Given the description of an element on the screen output the (x, y) to click on. 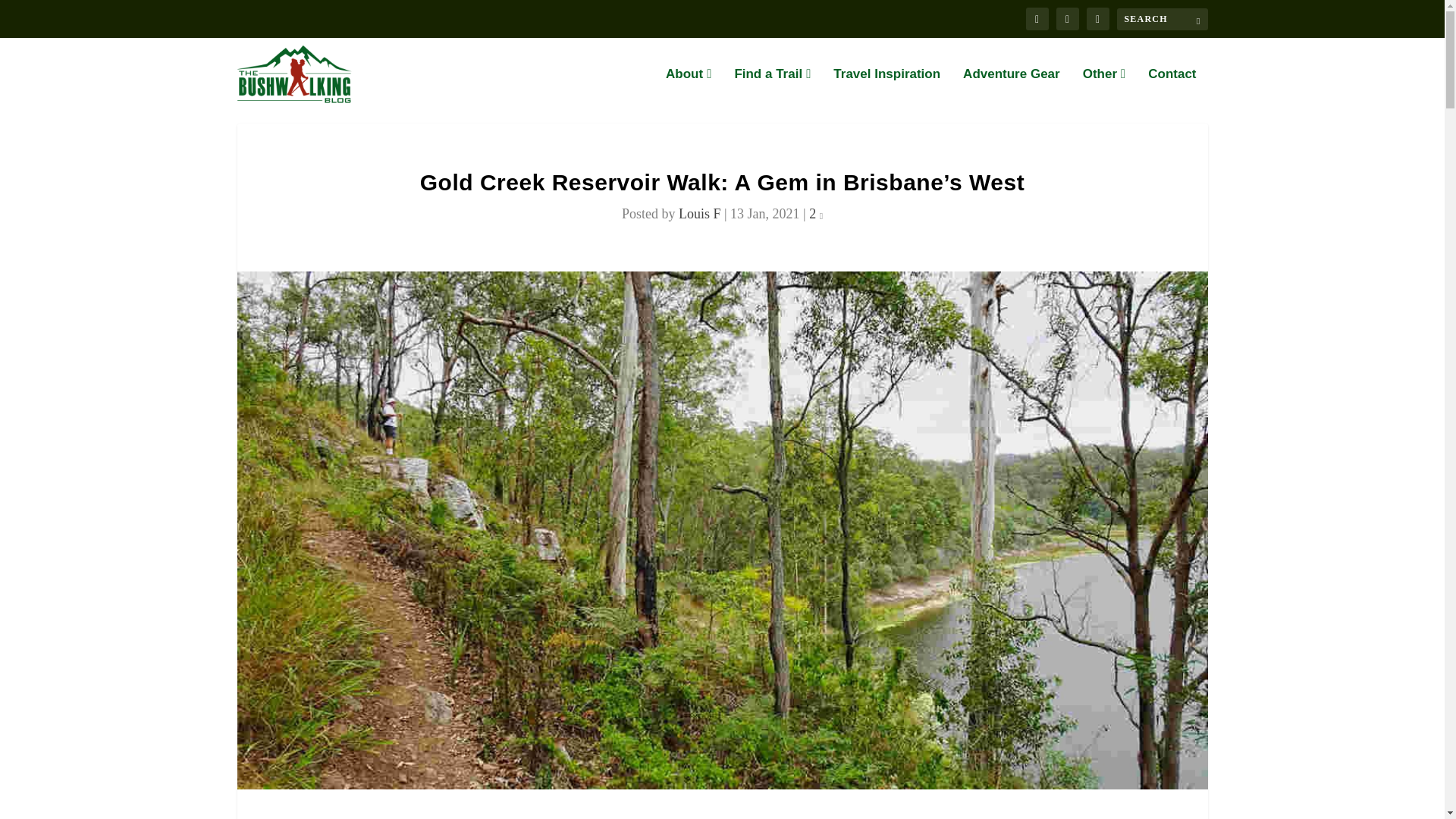
Find a Trail (771, 88)
Search for: (1161, 19)
Contact (1171, 88)
Other (1104, 88)
Posts by Louis F (699, 213)
About (688, 88)
Travel Inspiration (886, 88)
Adventure Gear (1010, 88)
Find a Trail (771, 88)
